Given the description of an element on the screen output the (x, y) to click on. 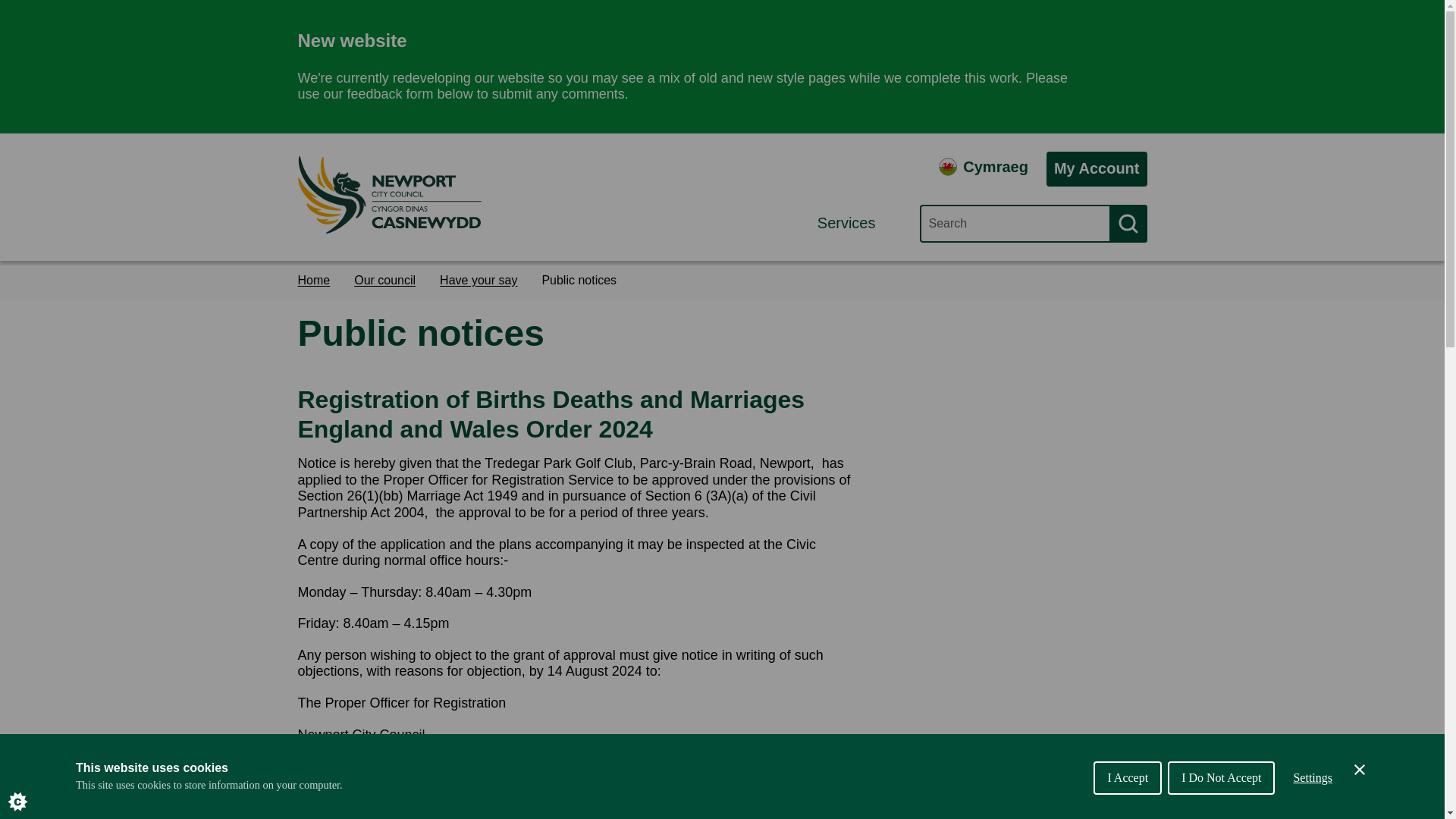
Have your say (484, 279)
My Account (1096, 168)
Our council (390, 279)
Apply (1127, 223)
I Do Not Accept (1221, 802)
Home (319, 279)
I Accept (1127, 807)
Cymraeg (983, 167)
Services (855, 223)
Settings (1312, 794)
